Given the description of an element on the screen output the (x, y) to click on. 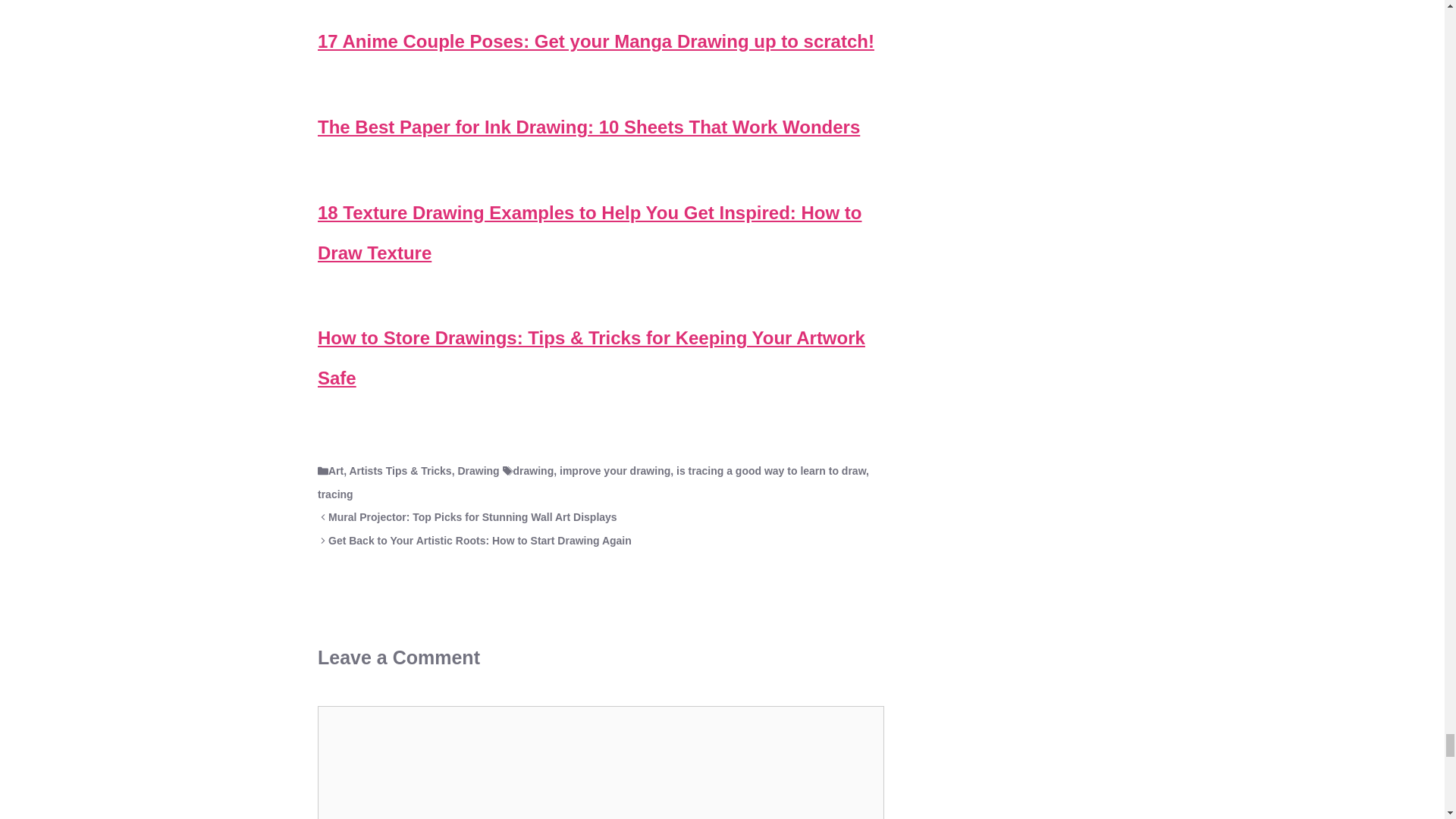
The Best Paper for Ink Drawing: 10 Sheets That Work Wonders (588, 127)
17 Anime Couple Poses: Get your Manga Drawing up to scratch! (596, 41)
